Given the description of an element on the screen output the (x, y) to click on. 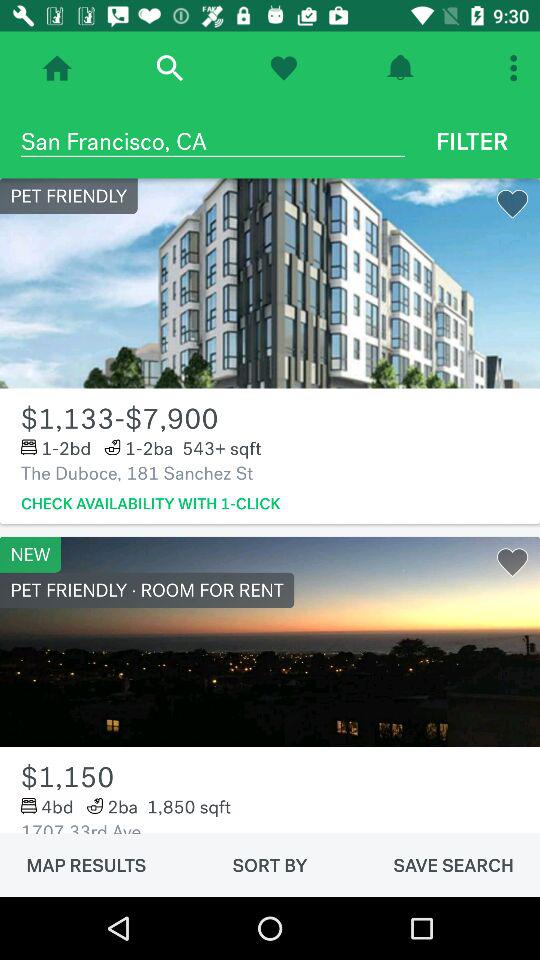
launch check availability with item (150, 503)
